Given the description of an element on the screen output the (x, y) to click on. 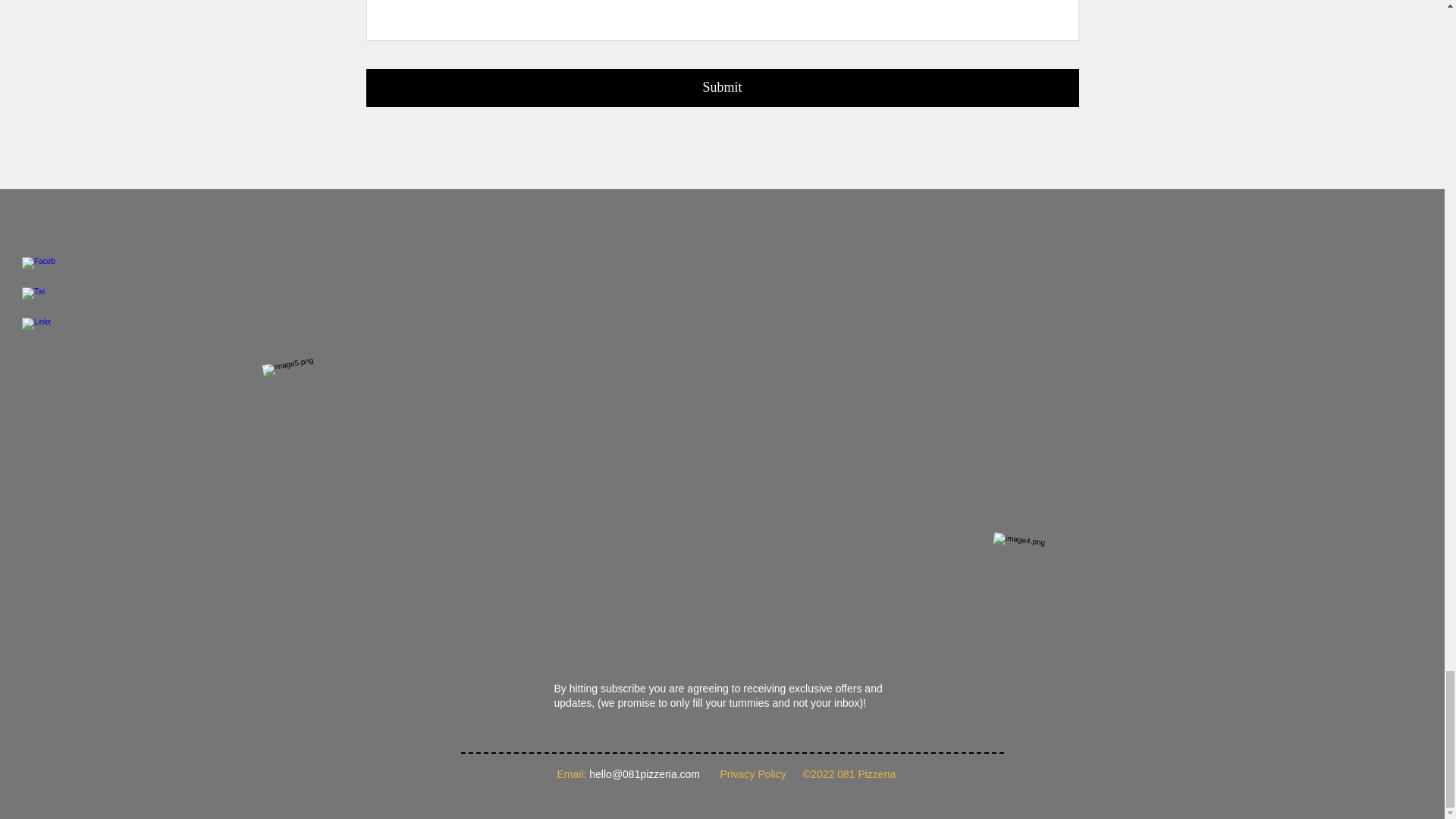
Privacy Policy (753, 774)
Submit (721, 87)
